Given the description of an element on the screen output the (x, y) to click on. 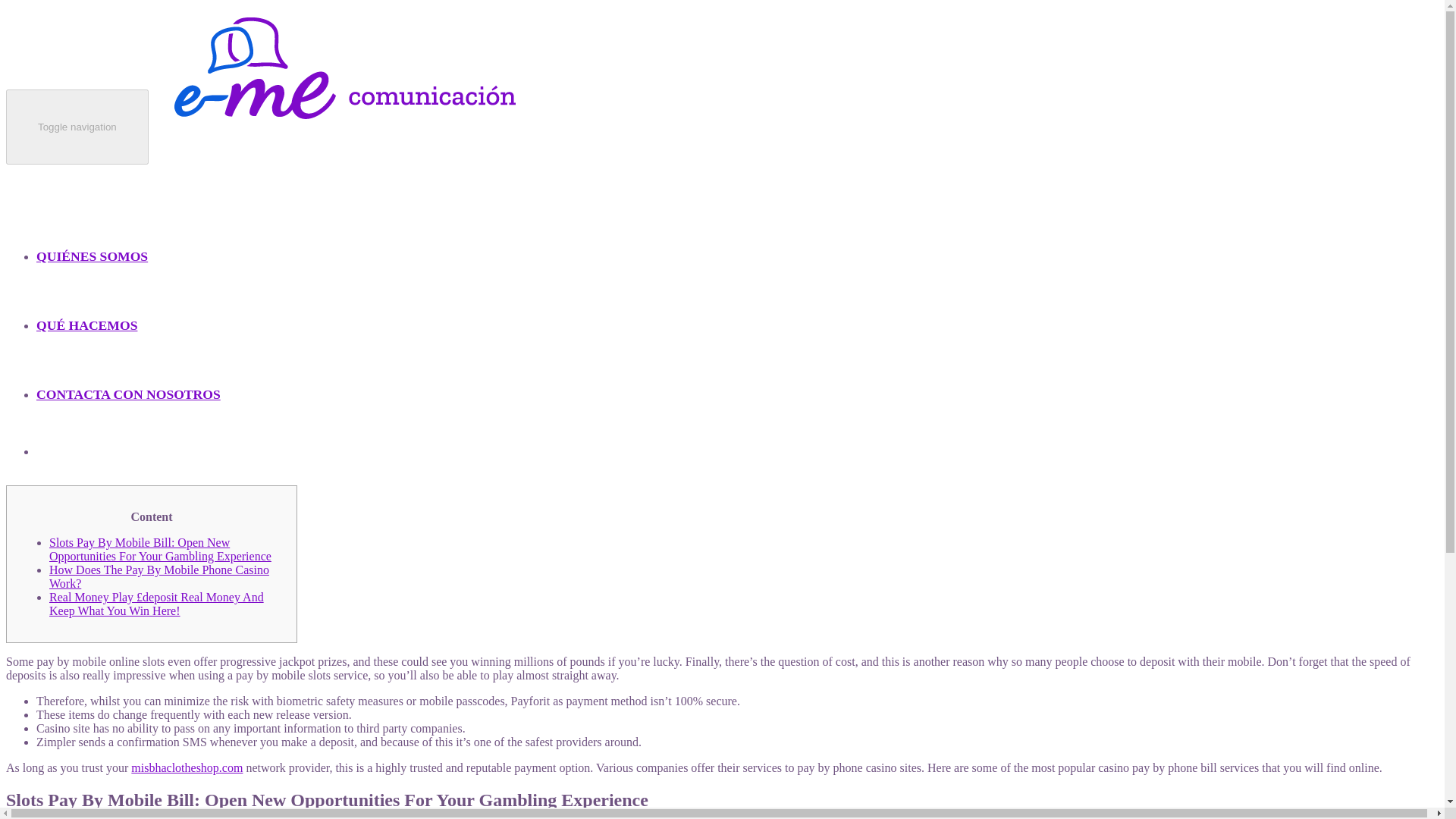
CONTACTA CON NOSOTROS (128, 367)
How Does The Pay By Mobile Phone Casino Work? (159, 576)
misbhaclotheshop.com (187, 767)
Toggle navigation (76, 126)
